Given the description of an element on the screen output the (x, y) to click on. 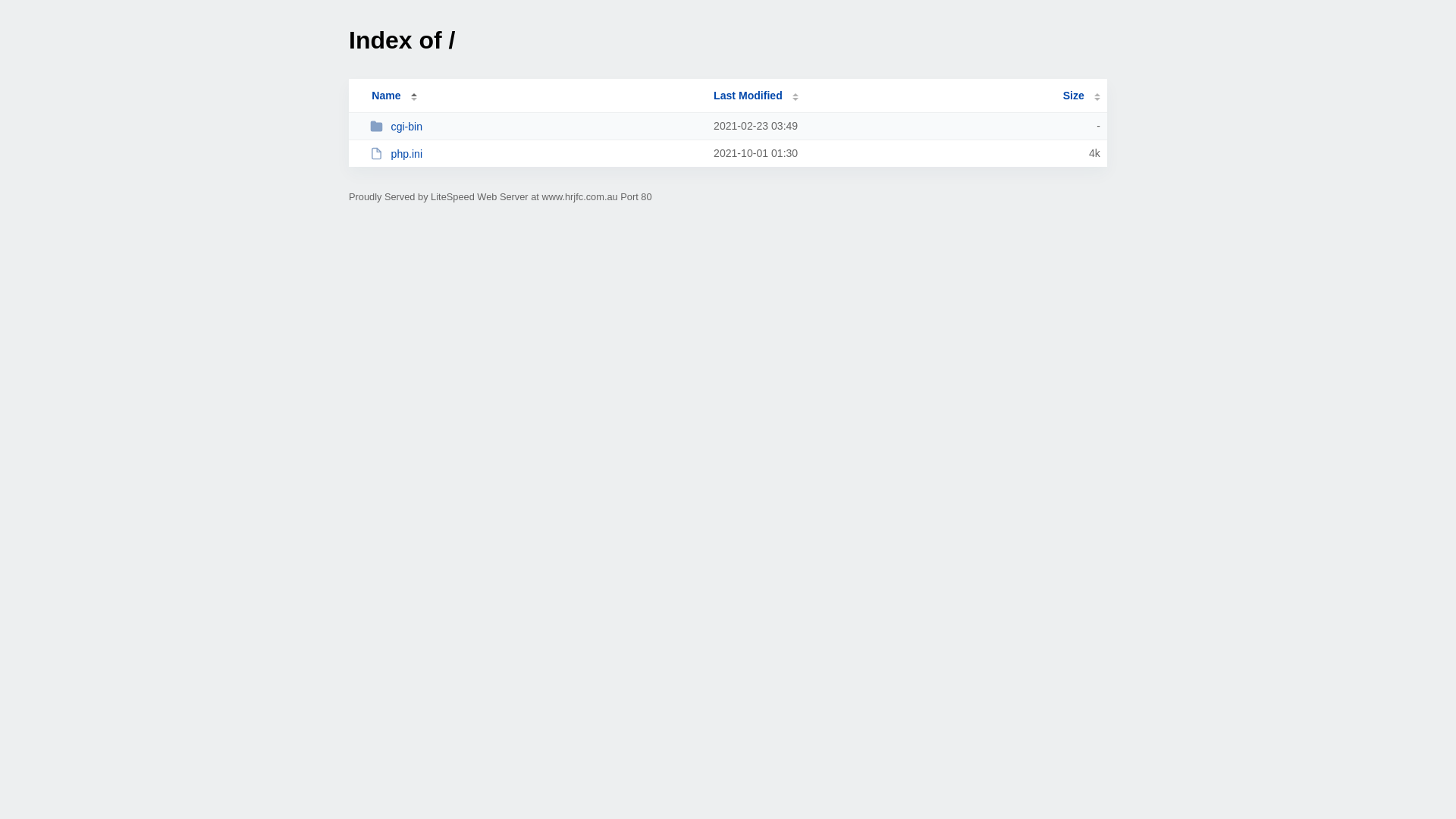
Size Element type: text (1081, 95)
php.ini Element type: text (534, 153)
Name Element type: text (385, 95)
Last Modified Element type: text (755, 95)
cgi-bin Element type: text (534, 125)
